Given the description of an element on the screen output the (x, y) to click on. 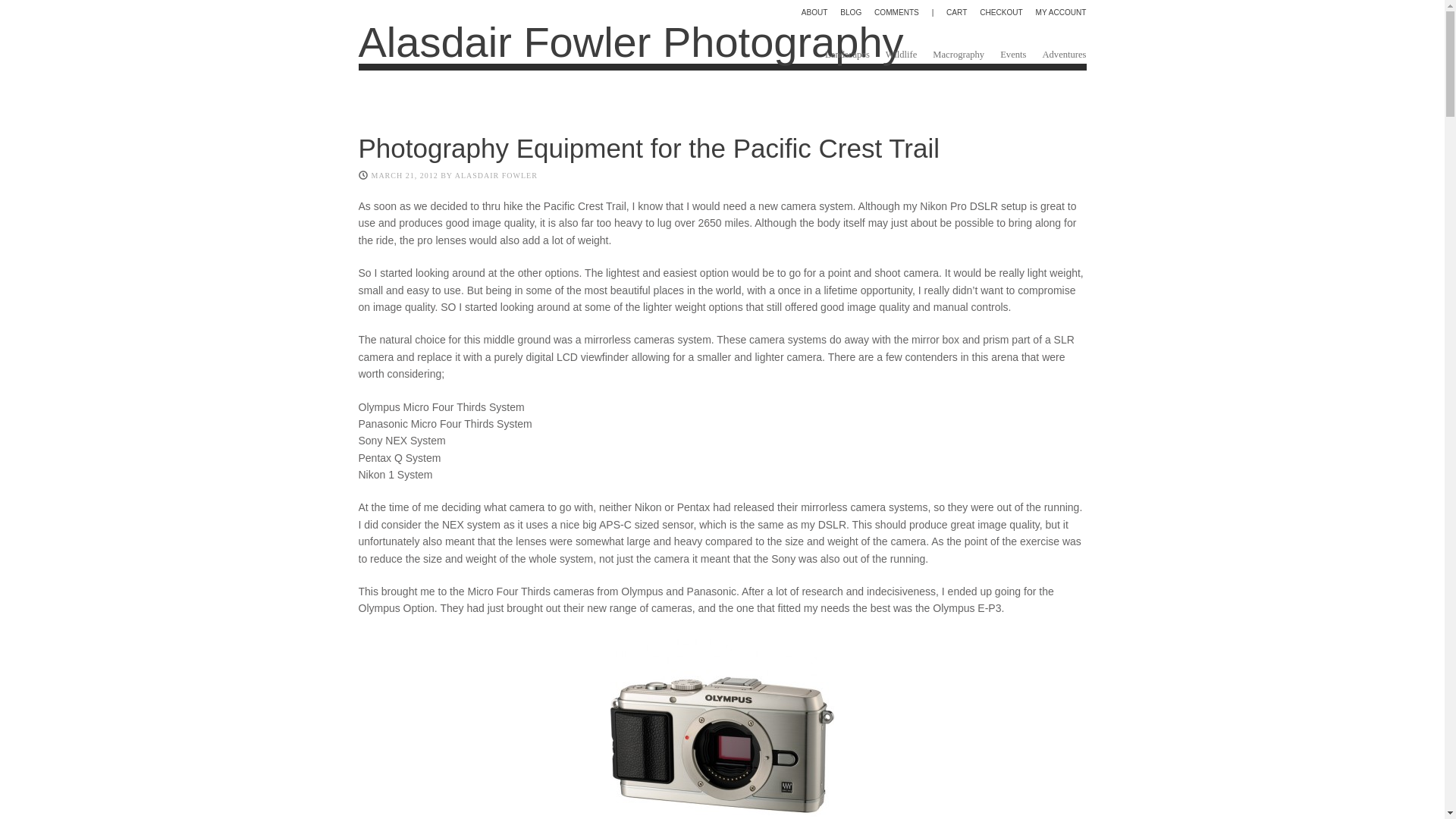
Events (1013, 54)
MY ACCOUNT (1060, 12)
11:30 am (404, 175)
ABOUT (815, 12)
Wildlife (901, 54)
Landscapes (847, 54)
BLOG (850, 12)
CHECKOUT (1001, 12)
Photography Equipment for the Pacific Crest Trail (648, 147)
Macrography (958, 54)
